Given the description of an element on the screen output the (x, y) to click on. 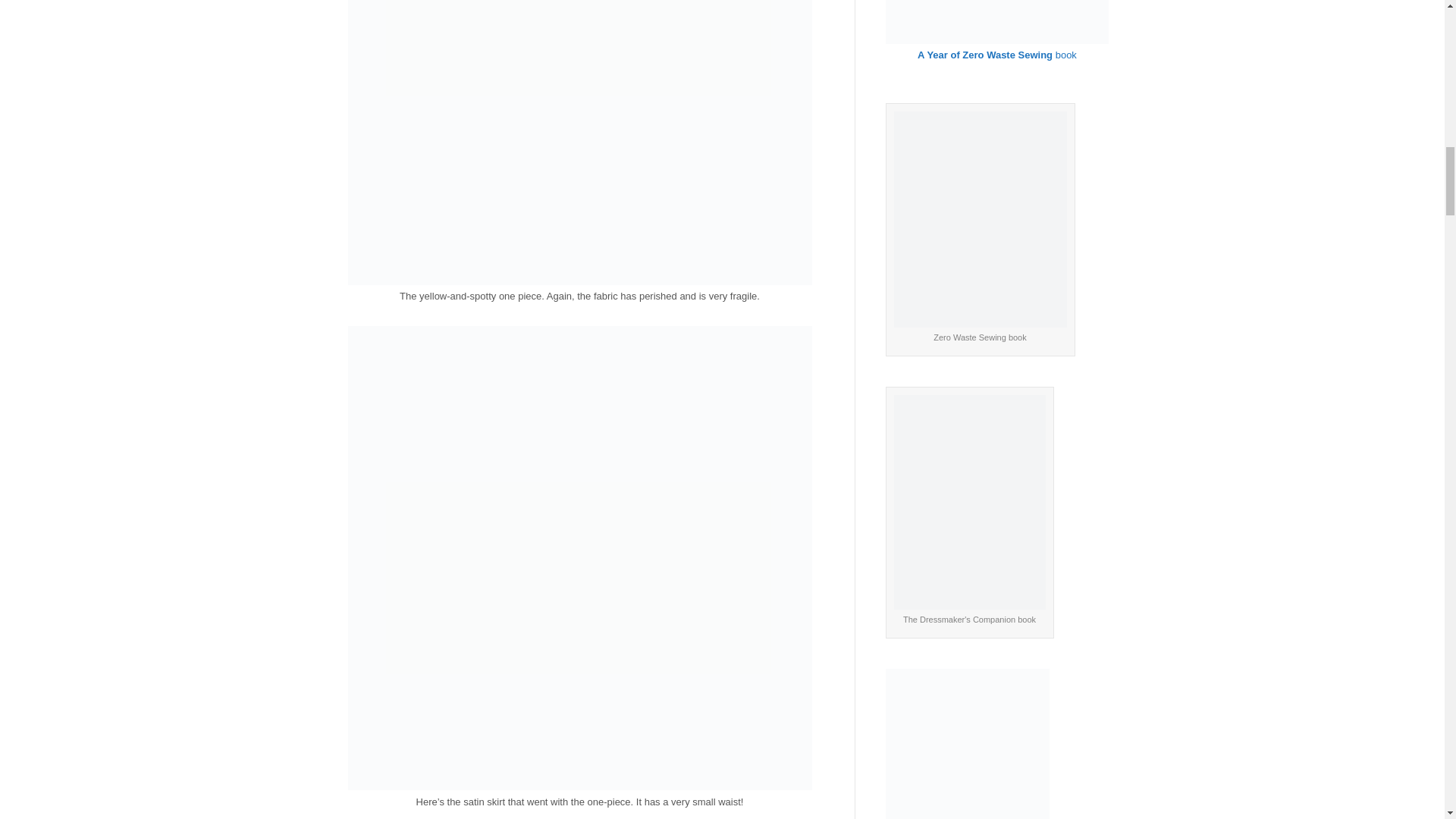
Australian Sewing Blogs (967, 748)
